Given the description of an element on the screen output the (x, y) to click on. 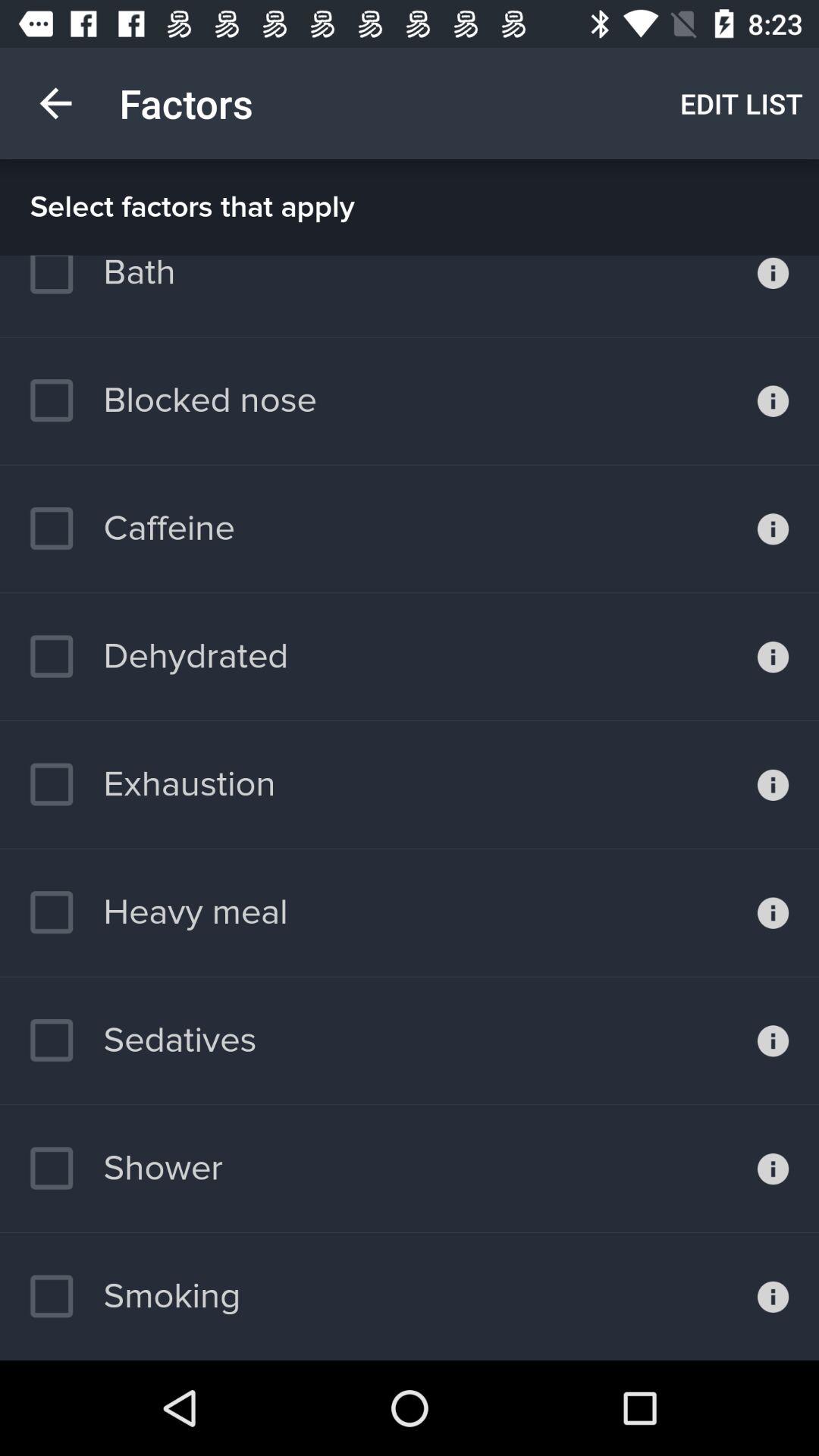
turn off the icon above the heavy meal (152, 784)
